Given the description of an element on the screen output the (x, y) to click on. 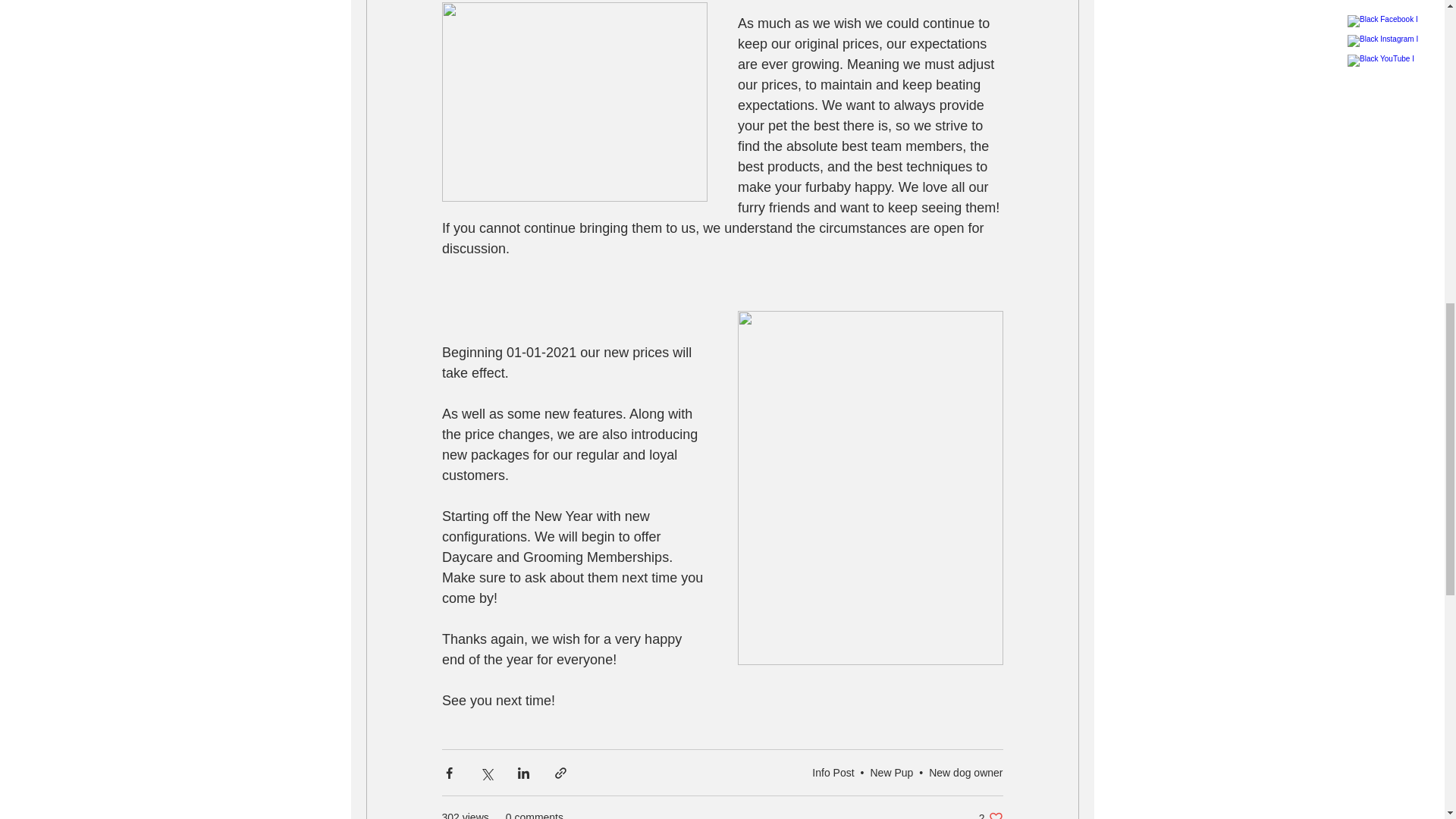
New dog owner (965, 771)
New Pup (892, 771)
Info Post (832, 771)
